Given the description of an element on the screen output the (x, y) to click on. 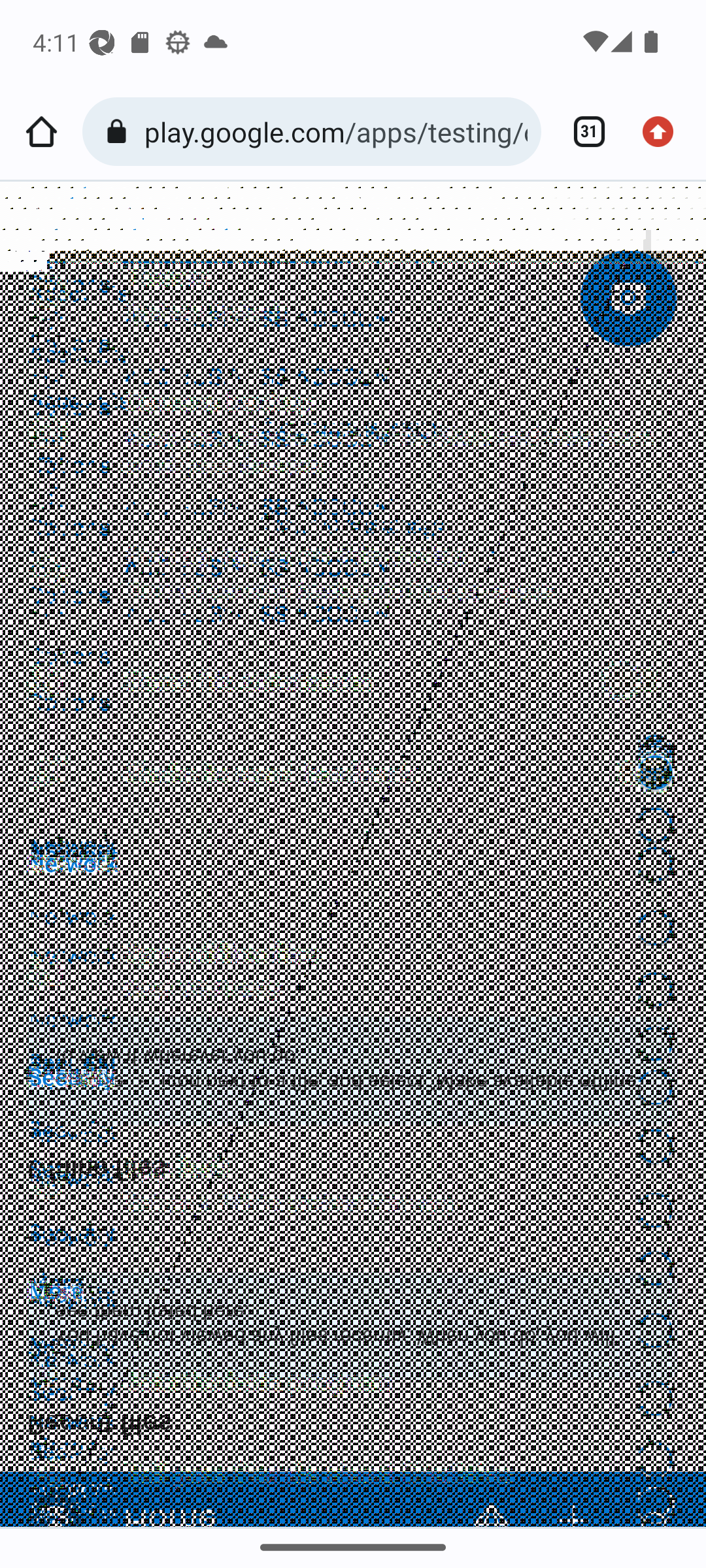
Home (41, 131)
Connection is secure (120, 131)
Switch or close tabs (582, 131)
Update available. More options (664, 131)
